Given the description of an element on the screen output the (x, y) to click on. 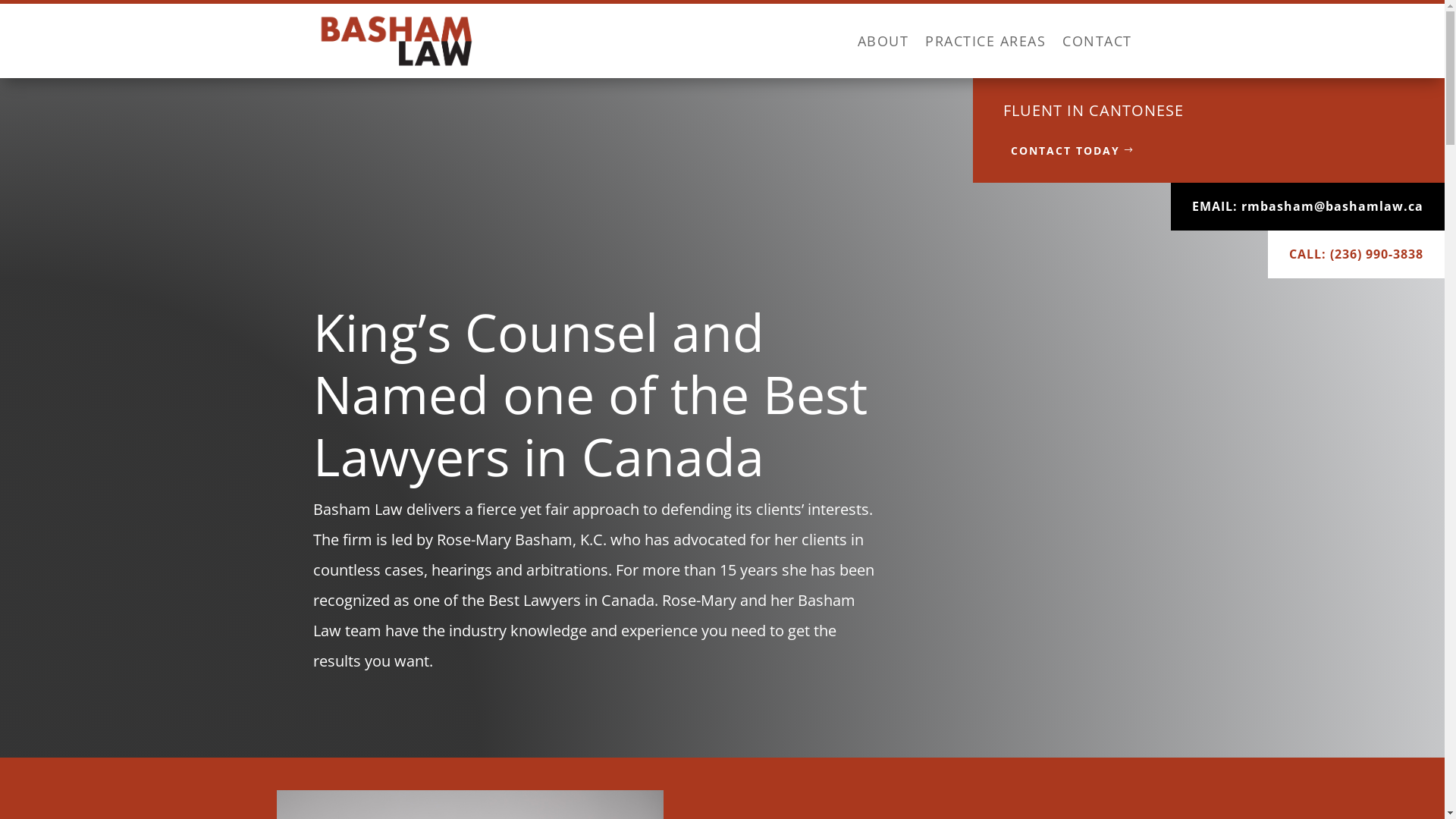
CALL: (236) 990-3838 Element type: text (1355, 254)
EMAIL: rmbasham@bashamlaw.ca Element type: text (1307, 206)
CONTACT TODAY Element type: text (1072, 150)
PRACTICE AREAS Element type: text (985, 40)
ABOUT Element type: text (882, 40)
CONTACT Element type: text (1097, 40)
